Given the description of an element on the screen output the (x, y) to click on. 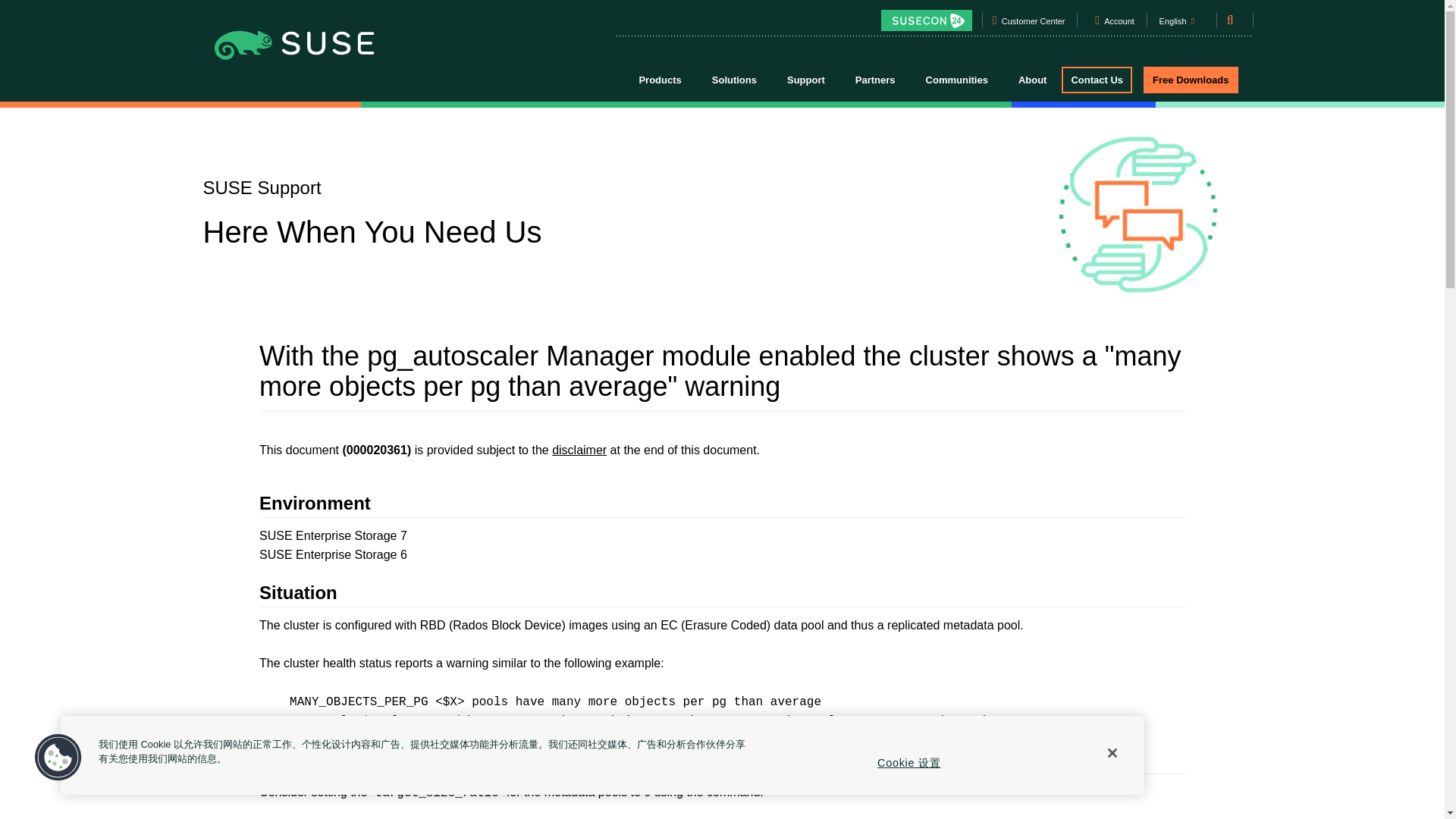
Customer Center (1032, 23)
Account (1119, 23)
Cookies Button (57, 757)
